Given the description of an element on the screen output the (x, y) to click on. 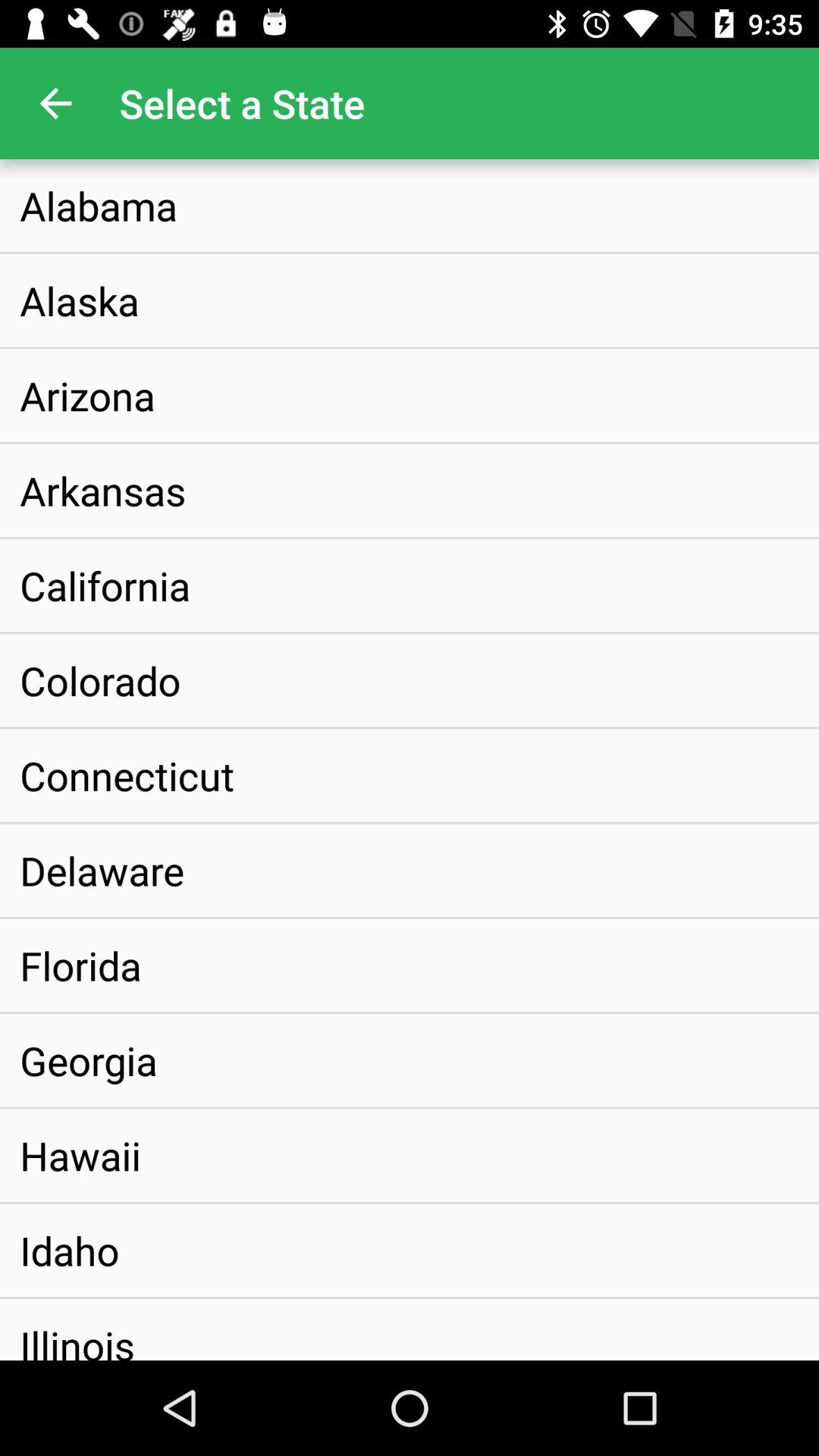
flip to the georgia item (88, 1060)
